Given the description of an element on the screen output the (x, y) to click on. 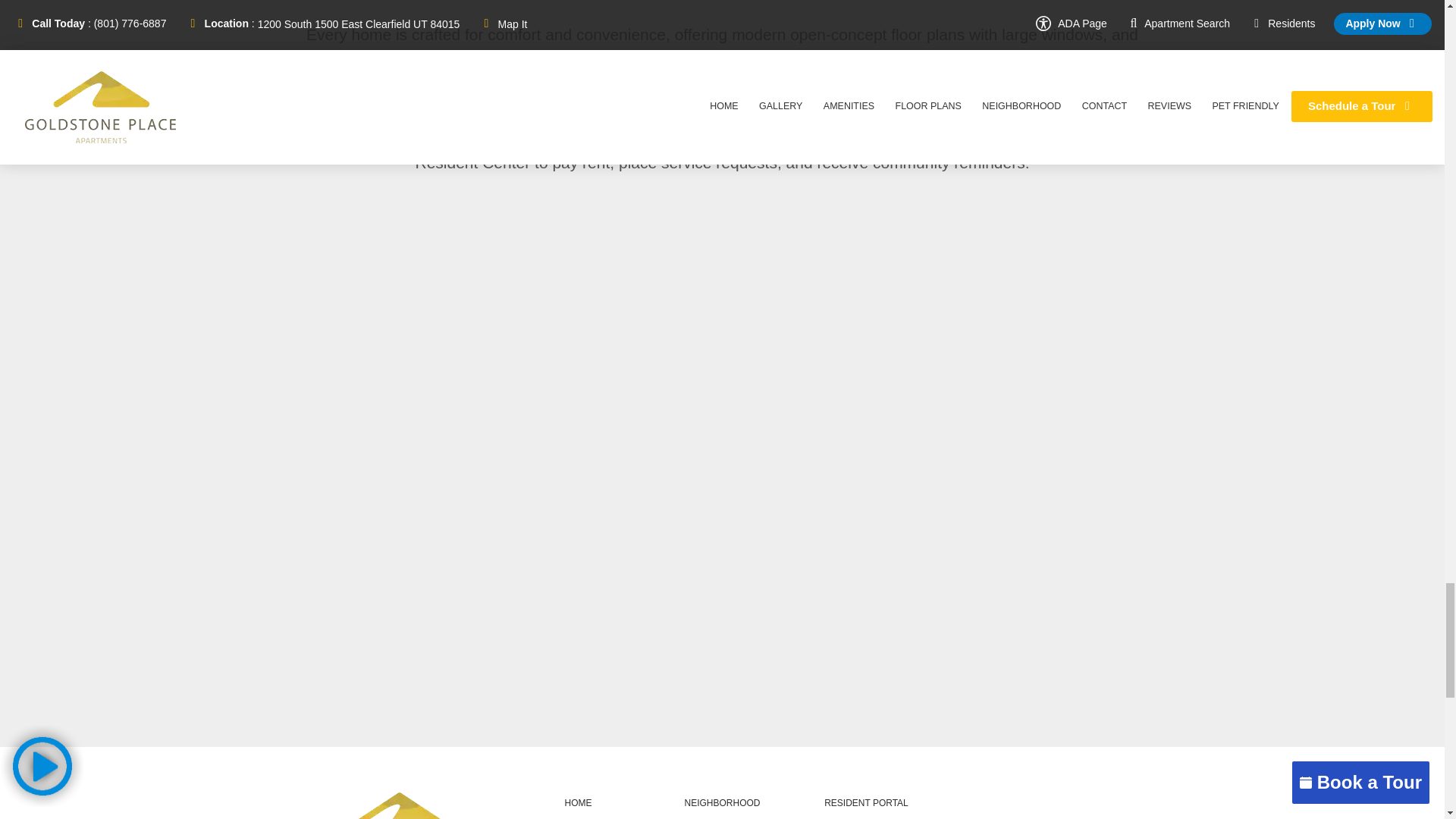
Goldstone Place in Clearfield, UT (398, 805)
